Given the description of an element on the screen output the (x, y) to click on. 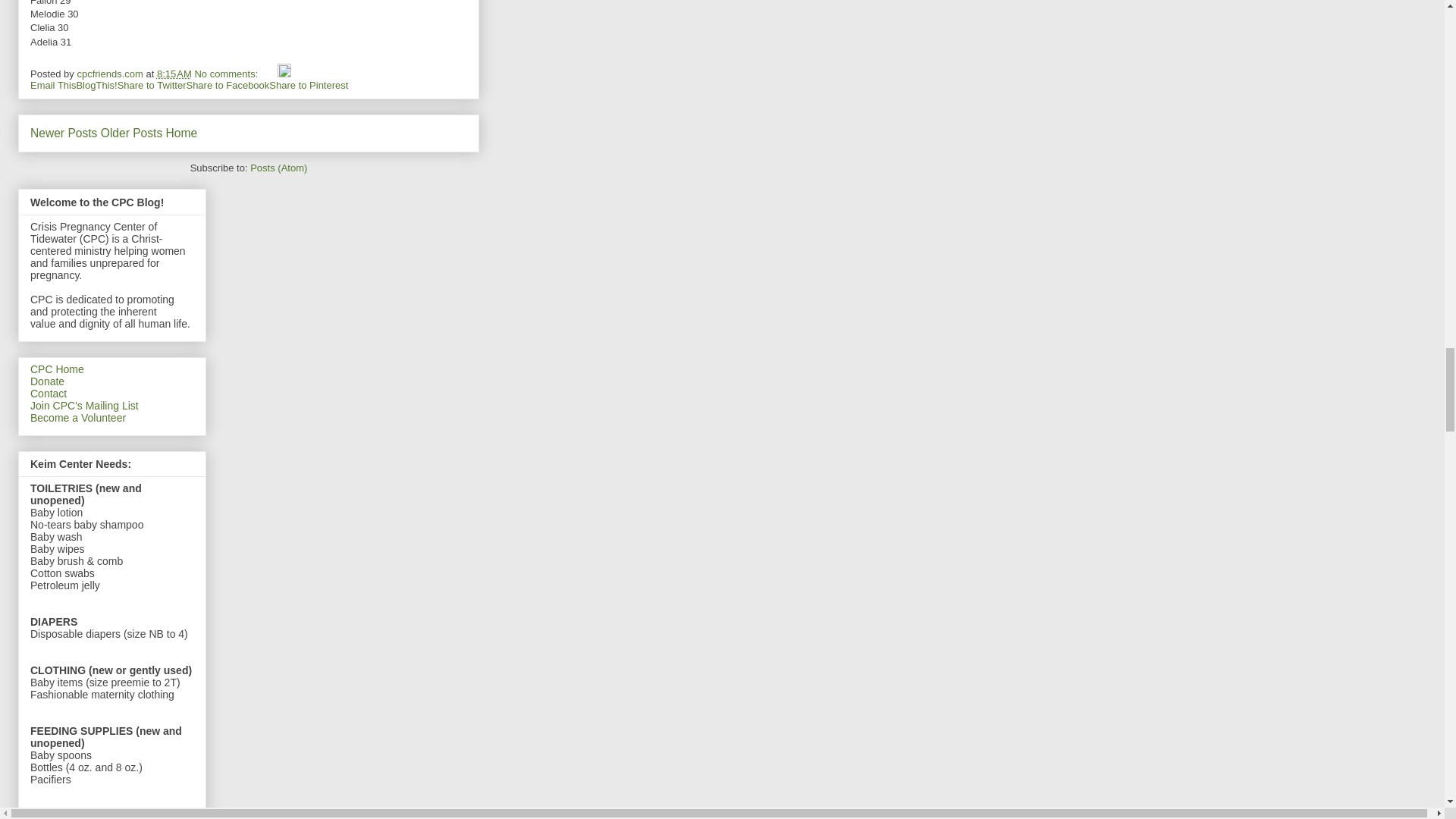
cpcfriends.com (111, 73)
